Given the description of an element on the screen output the (x, y) to click on. 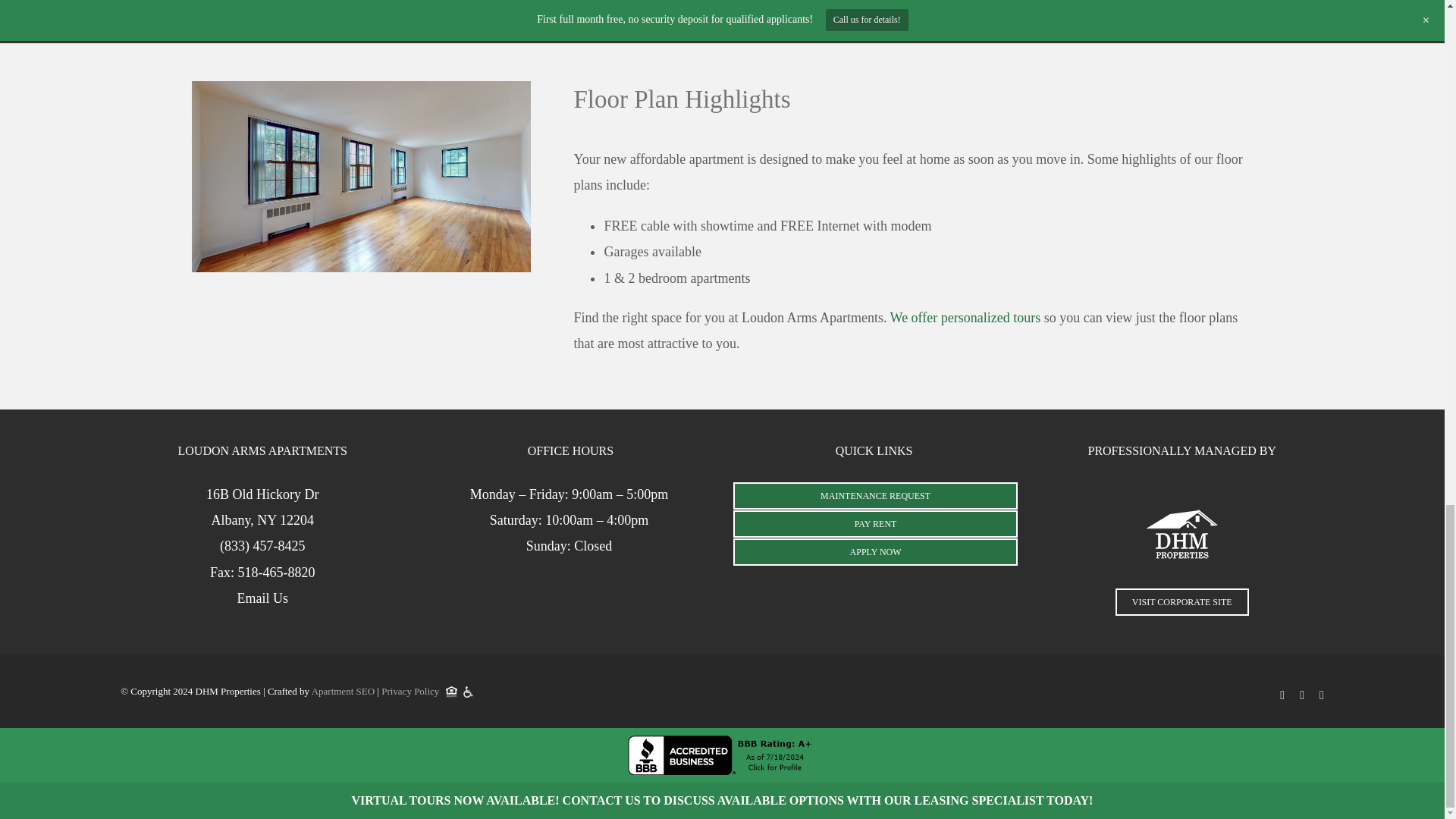
Apartment SEO (262, 506)
APPLY NOW (342, 690)
Privacy Policy (1082, 2)
VISIT CORPORATE SITE (410, 690)
We offer personalized tours (1182, 601)
Email Us (965, 317)
APPLY NOW (261, 598)
MAINTENANCE REQUEST (874, 551)
PAY RENT (874, 495)
